Given the description of an element on the screen output the (x, y) to click on. 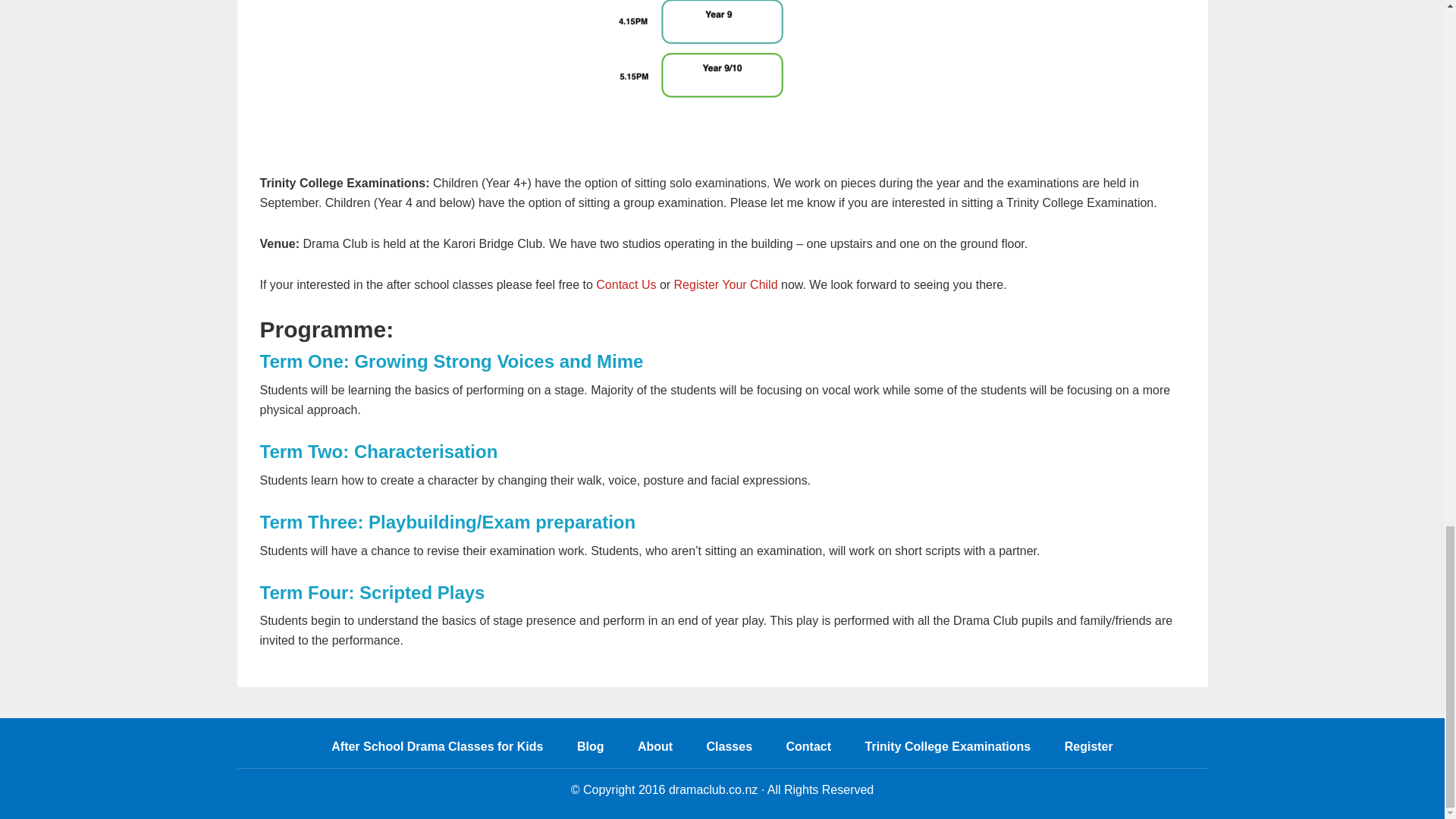
Classes (729, 750)
About (655, 750)
Contact Us (625, 284)
Contact (809, 750)
After School Drama Classes for Kids (436, 750)
dramaclub.co.nz (712, 789)
Register Your Child (725, 284)
Blog (591, 750)
Trinity College Examinations (948, 750)
Register (1088, 750)
